Given the description of an element on the screen output the (x, y) to click on. 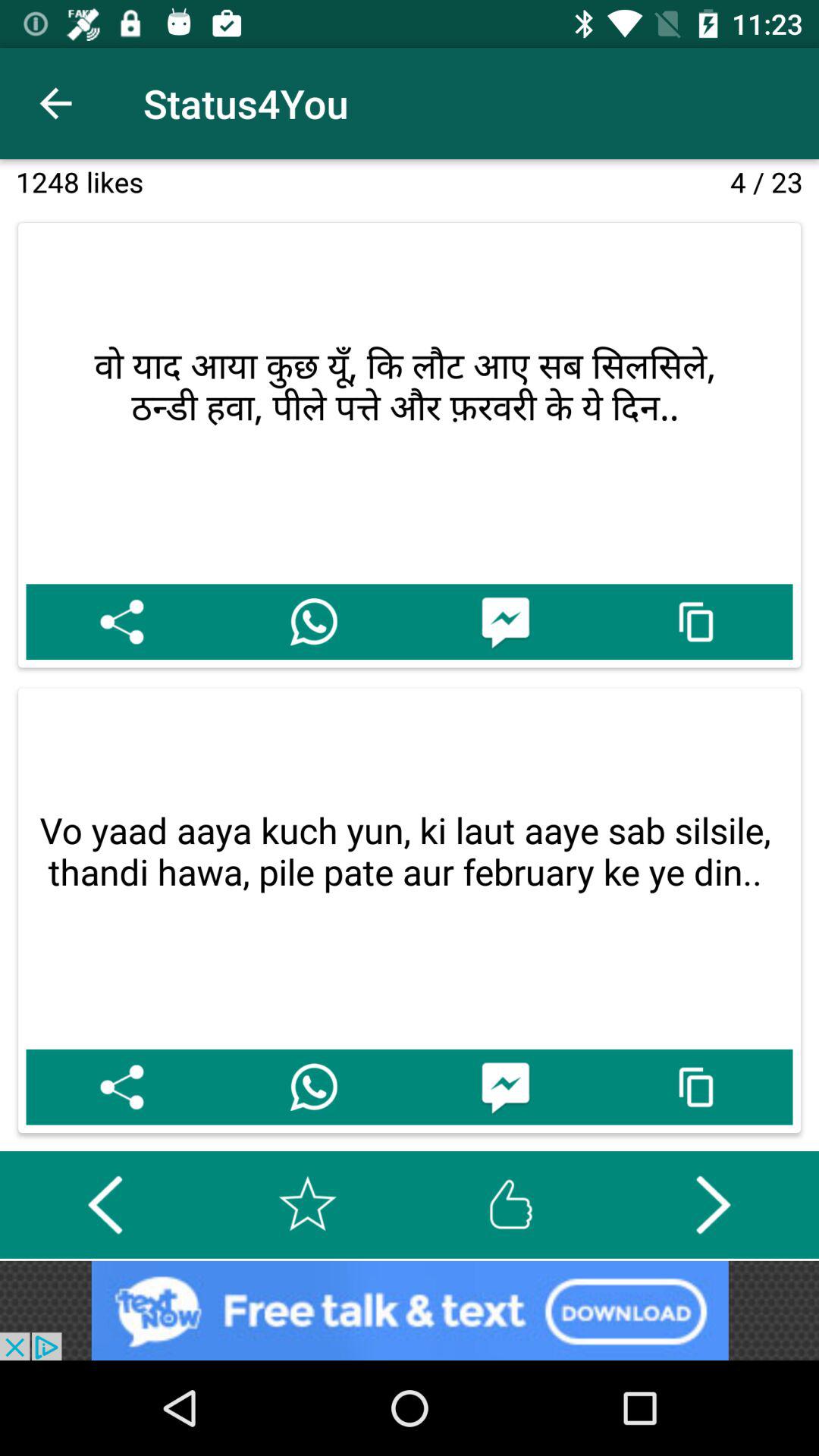
goes to the next slide (713, 1204)
